Given the description of an element on the screen output the (x, y) to click on. 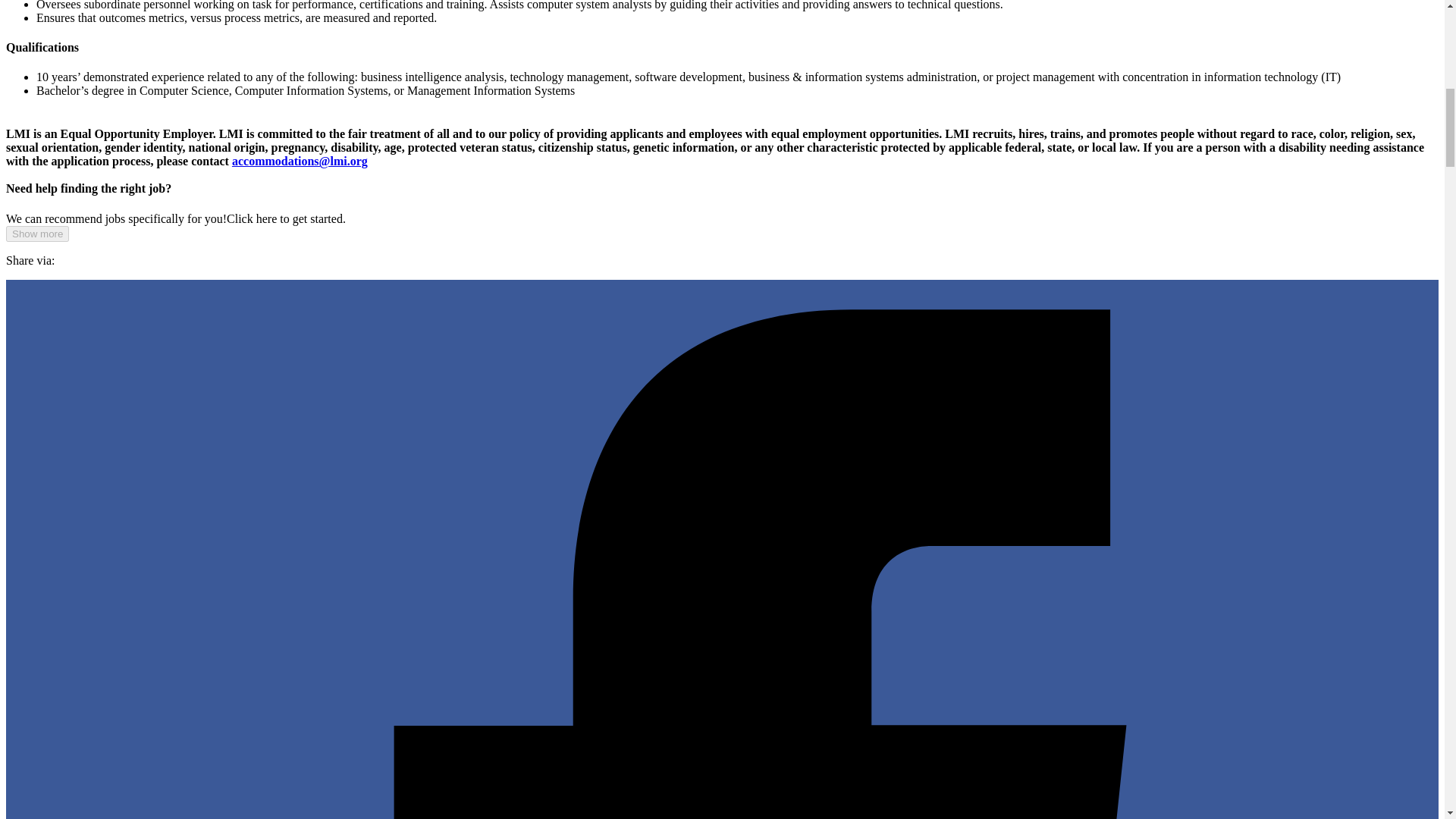
Show more (36, 233)
